Given the description of an element on the screen output the (x, y) to click on. 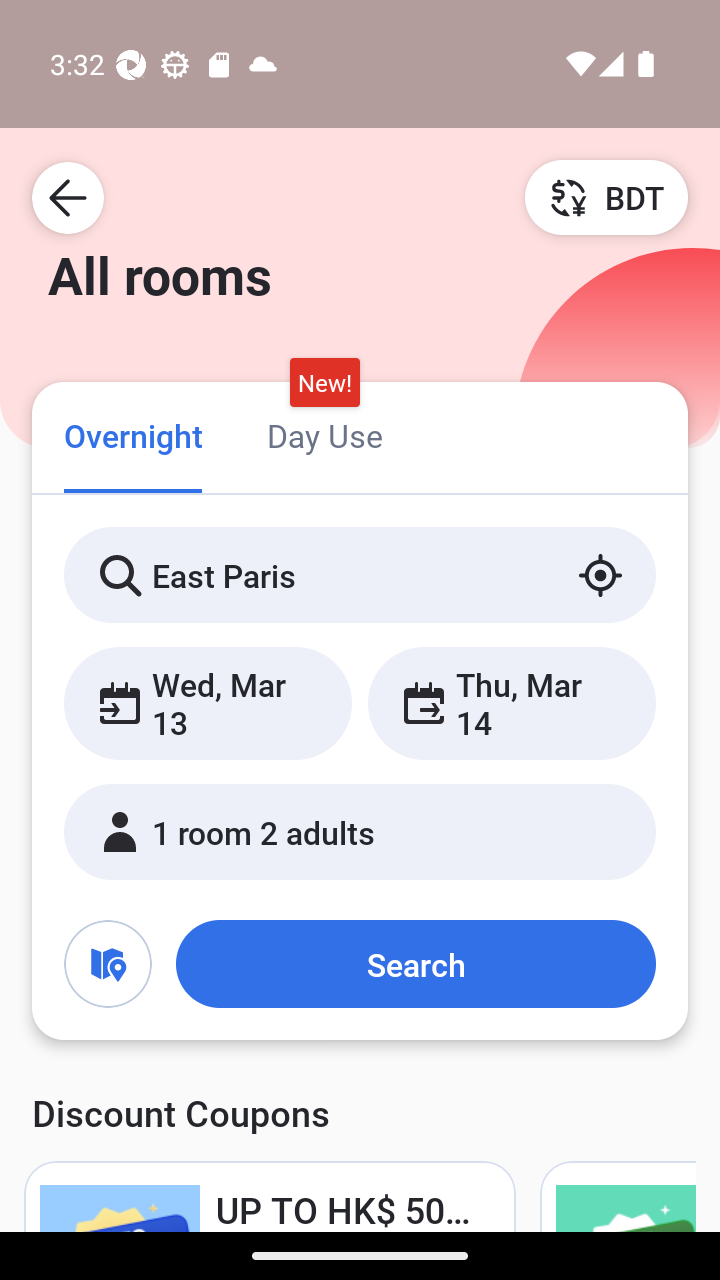
BDT (606, 197)
New! (324, 383)
Day Use (324, 434)
East Paris (359, 575)
Wed, Mar 13 (208, 703)
Thu, Mar 14 (511, 703)
1 room 2 adults (359, 831)
Search (415, 964)
